Given the description of an element on the screen output the (x, y) to click on. 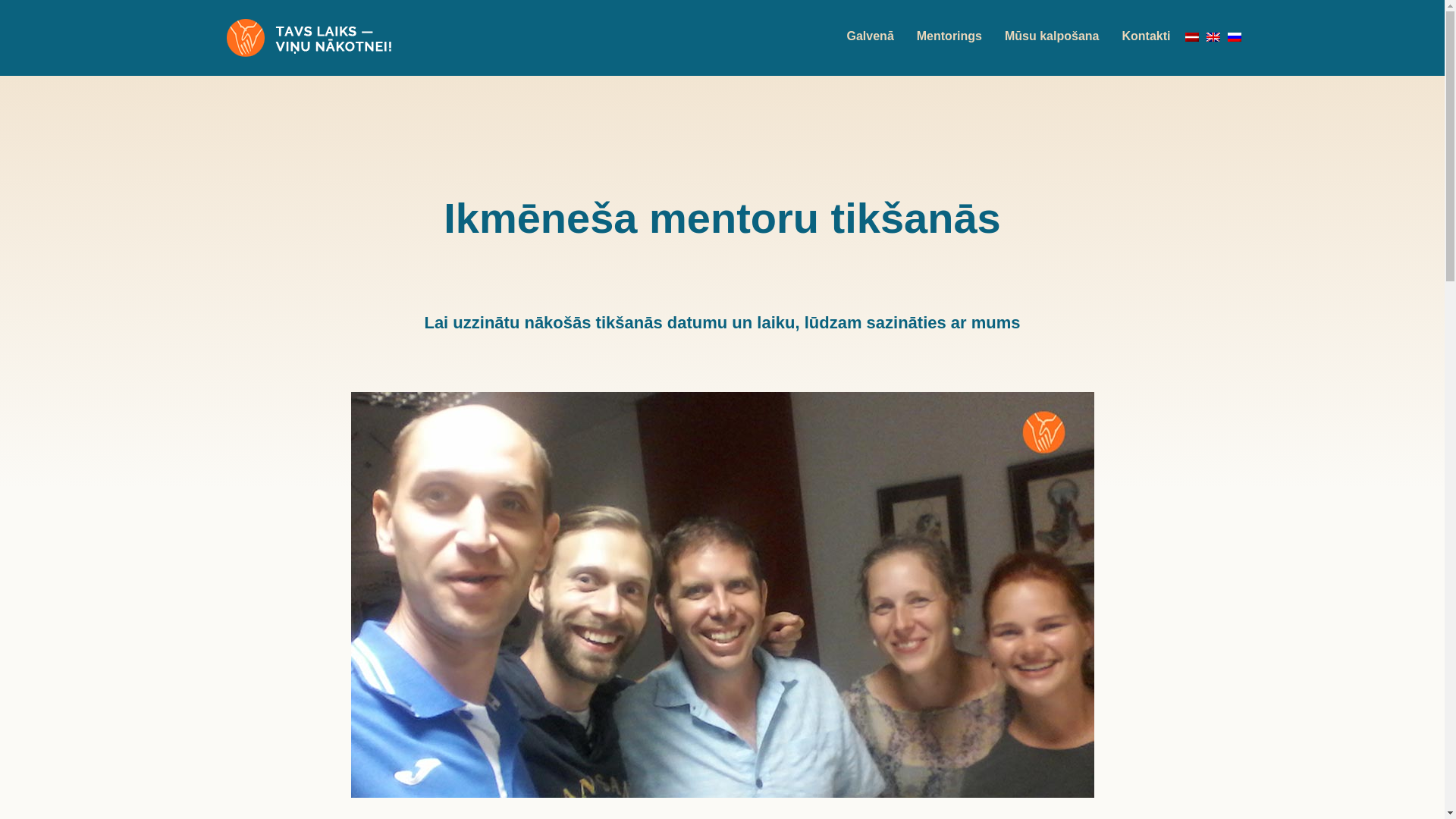
Kontakti (1144, 36)
Mentorings (948, 36)
